Given the description of an element on the screen output the (x, y) to click on. 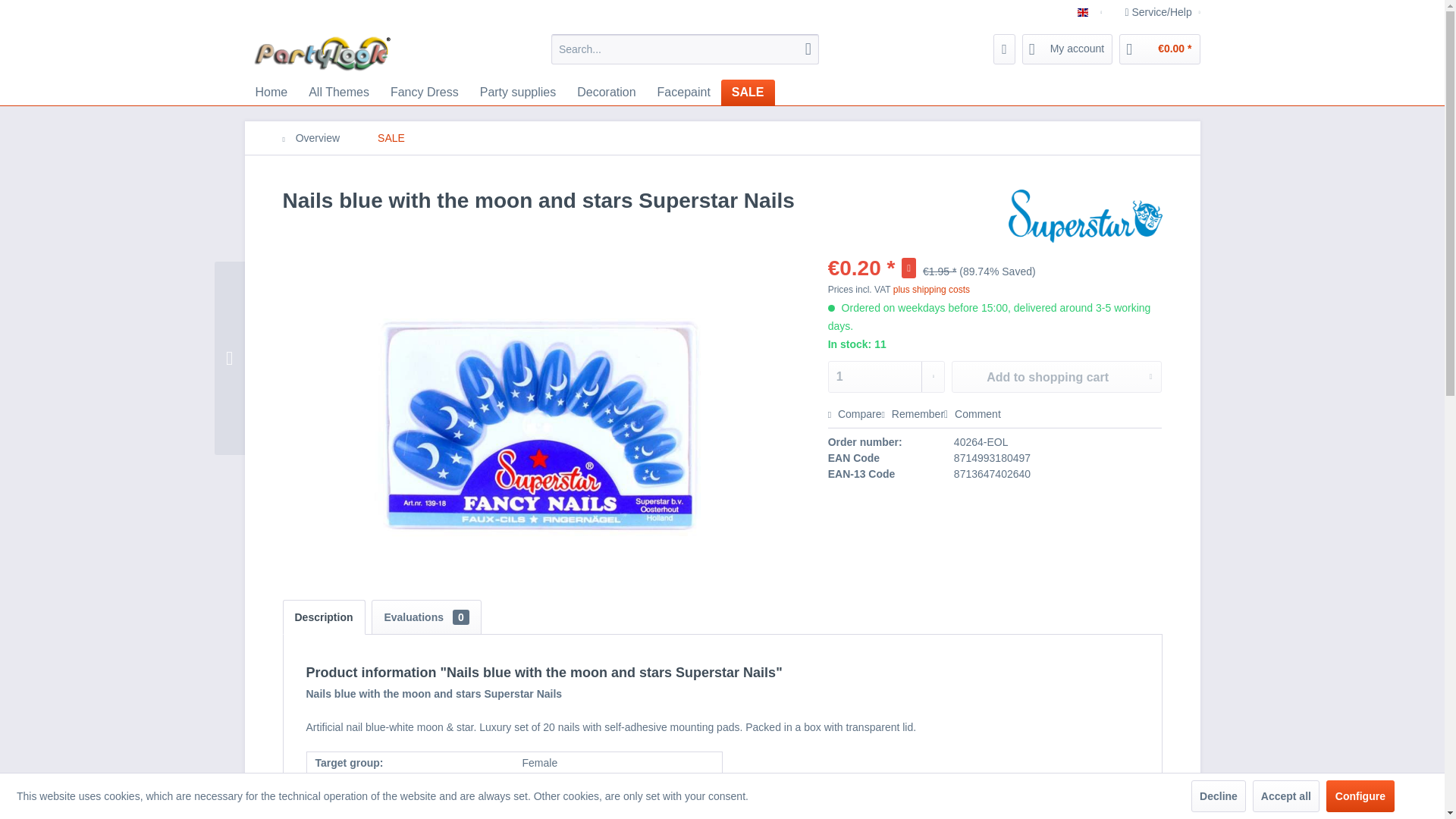
Home (271, 92)
Fancy Dress (424, 92)
SALE (747, 92)
Home (271, 92)
SALE (747, 92)
My account (1067, 49)
Fancy Dress (424, 92)
Shopping cart (1159, 49)
